Given the description of an element on the screen output the (x, y) to click on. 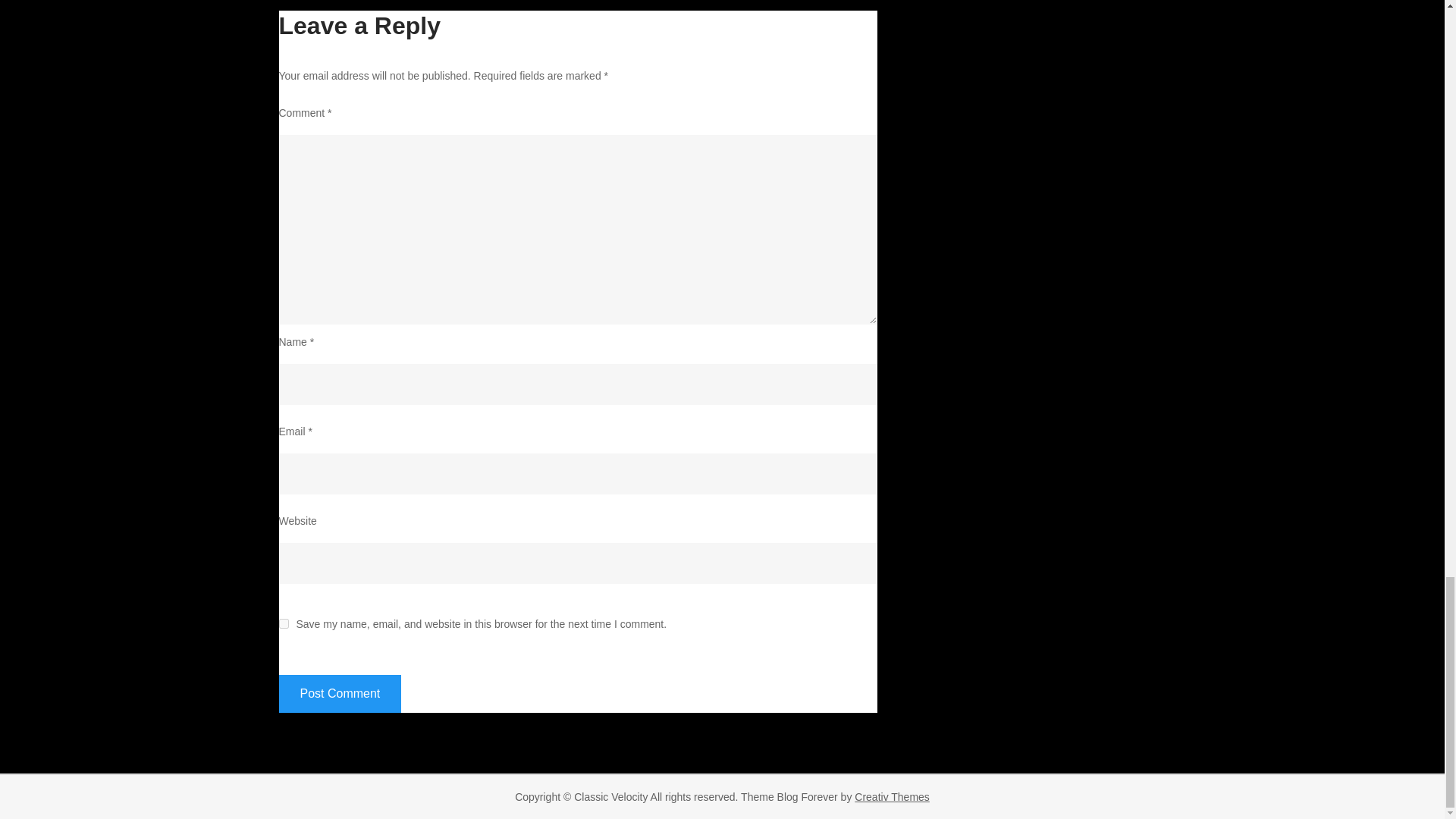
Post Comment (340, 693)
Creativ Themes (892, 797)
Post Comment (340, 693)
yes (283, 623)
